Given the description of an element on the screen output the (x, y) to click on. 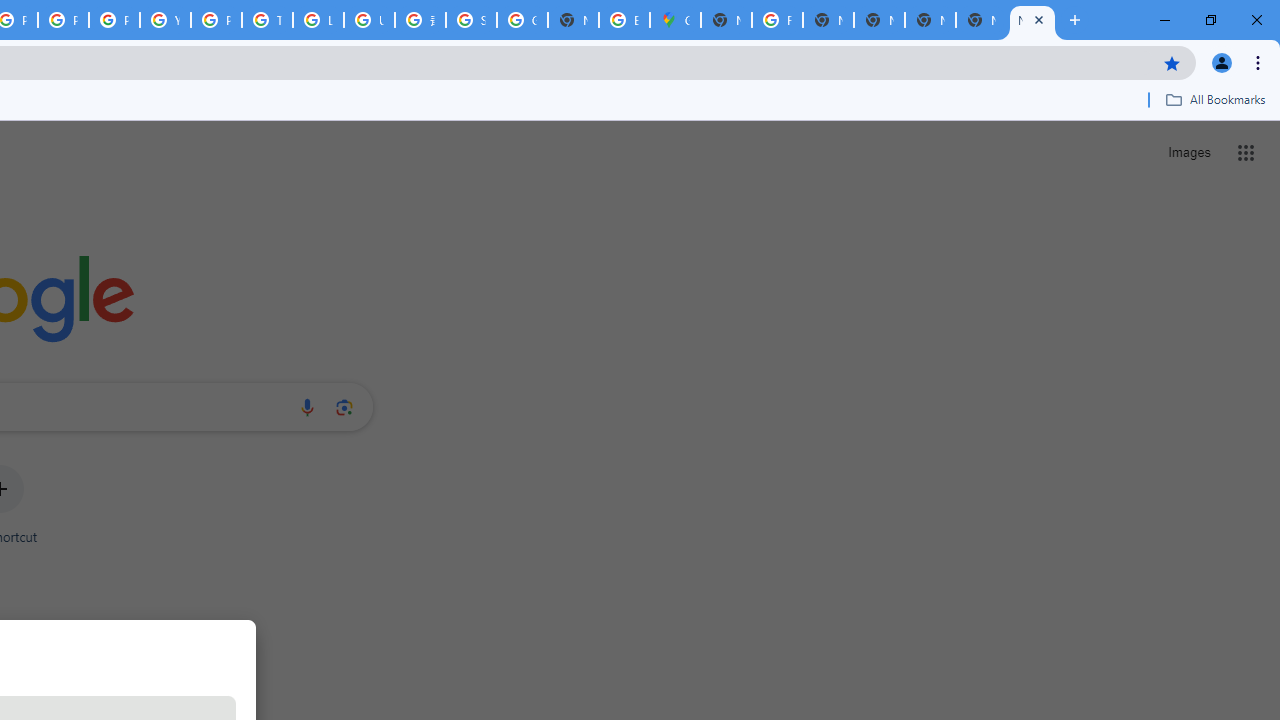
New Tab (981, 20)
Privacy Help Center - Policies Help (63, 20)
Tips & tricks for Chrome - Google Chrome Help (267, 20)
Google Maps (675, 20)
New Tab (1032, 20)
Explore new street-level details - Google Maps Help (624, 20)
